Given the description of an element on the screen output the (x, y) to click on. 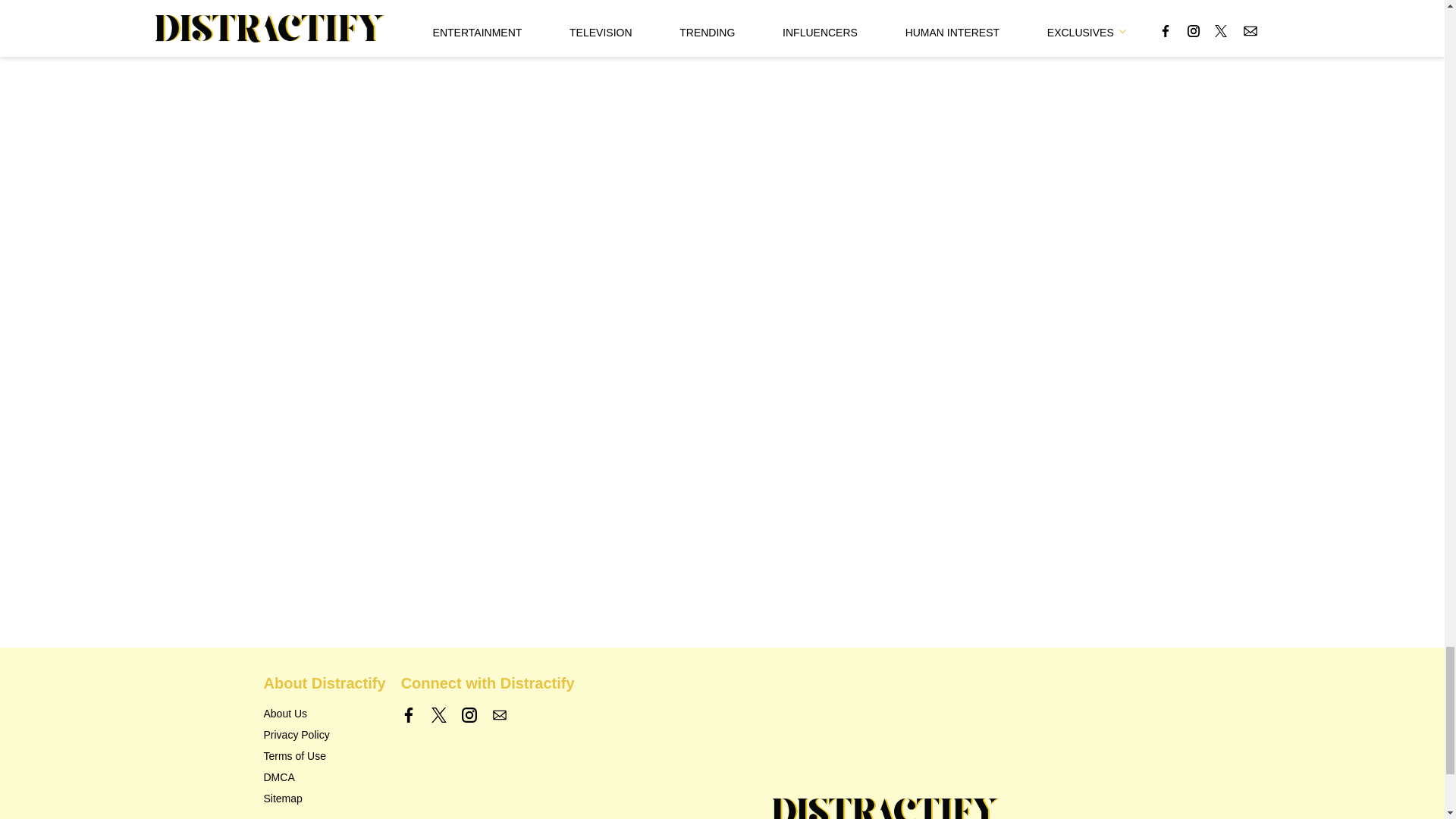
DMCA (279, 776)
Link to X (438, 714)
Contact us by Email (499, 714)
Link to Facebook (408, 714)
Sitemap (282, 798)
About Us (285, 713)
Terms of Use (294, 756)
Link to Instagram (469, 714)
Privacy Policy (296, 734)
